Given the description of an element on the screen output the (x, y) to click on. 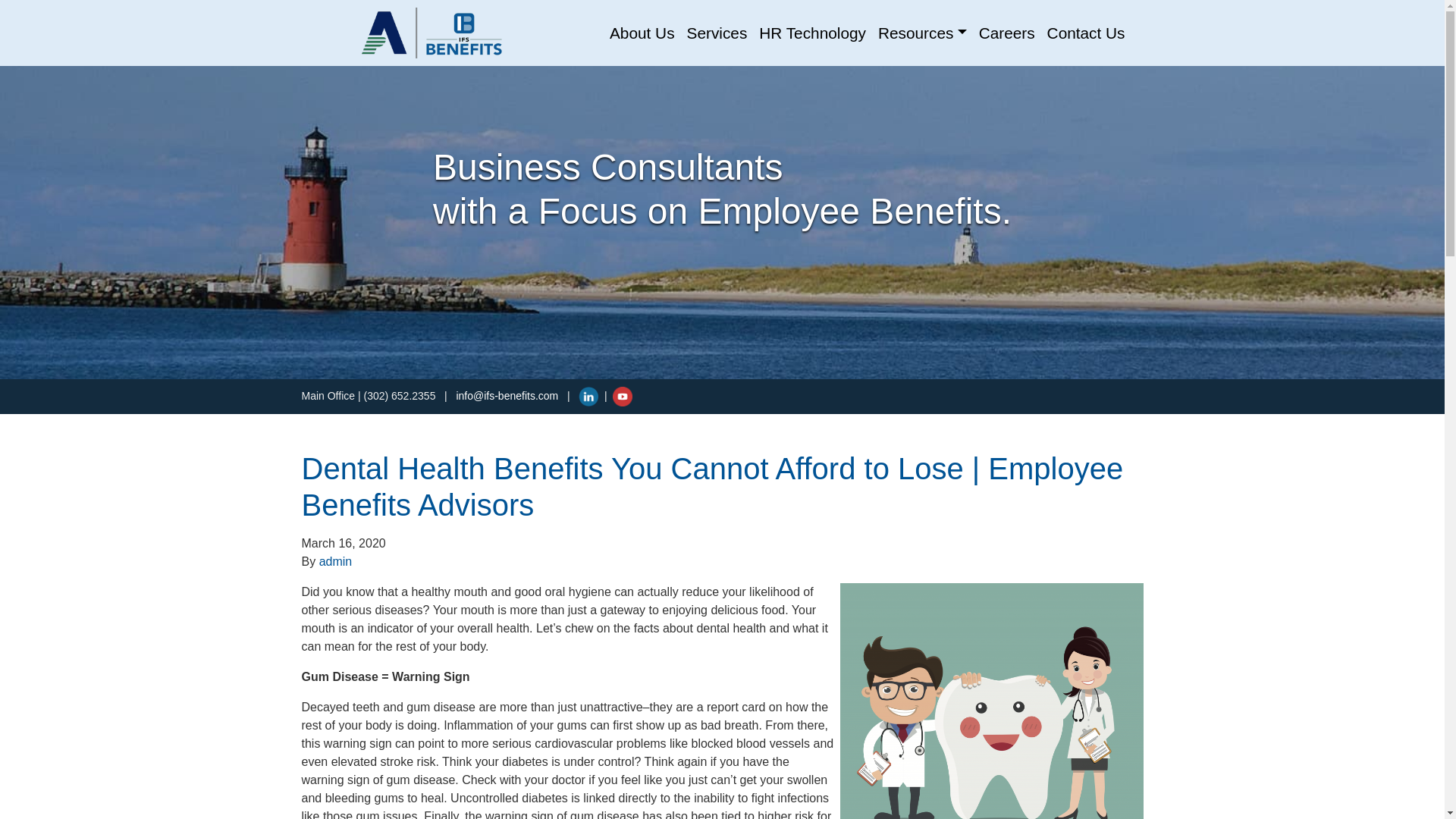
HR Technology (812, 32)
admin (335, 561)
Careers (1006, 32)
Resources (922, 32)
About Us (642, 32)
HR Technology (812, 32)
Contact Us (1086, 32)
About Us (642, 32)
Services (717, 32)
Services (717, 32)
Resources (922, 32)
Careers (1006, 32)
Contact Us (1086, 32)
